Given the description of an element on the screen output the (x, y) to click on. 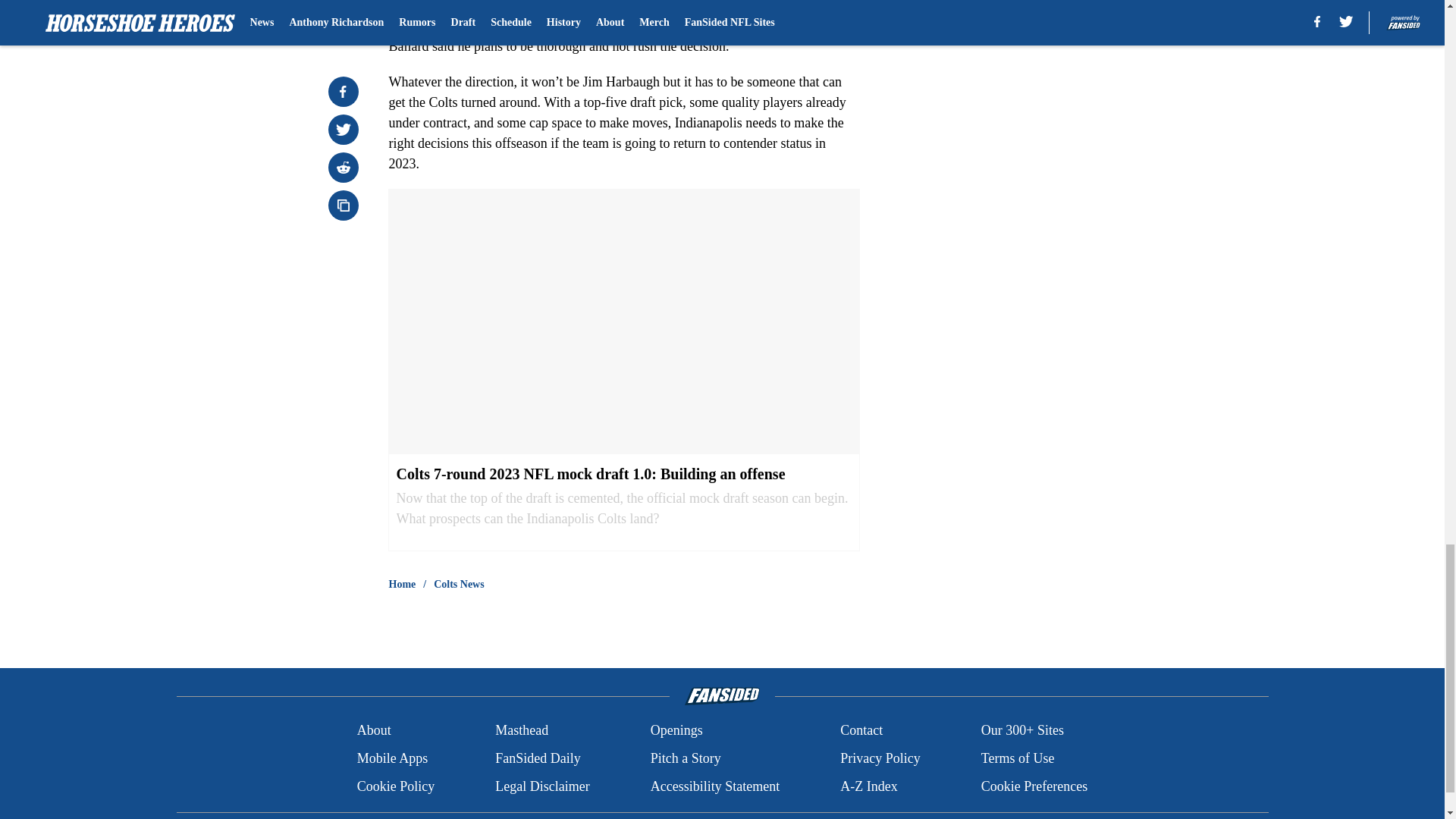
Privacy Policy (880, 758)
Masthead (521, 730)
Home (401, 584)
Cookie Policy (395, 786)
hoping that the Colts go a different direction (675, 6)
Mobile Apps (392, 758)
Openings (676, 730)
Terms of Use (1017, 758)
Colts News (458, 584)
Contact (861, 730)
Pitch a Story (685, 758)
About (373, 730)
FanSided Daily (537, 758)
